Given the description of an element on the screen output the (x, y) to click on. 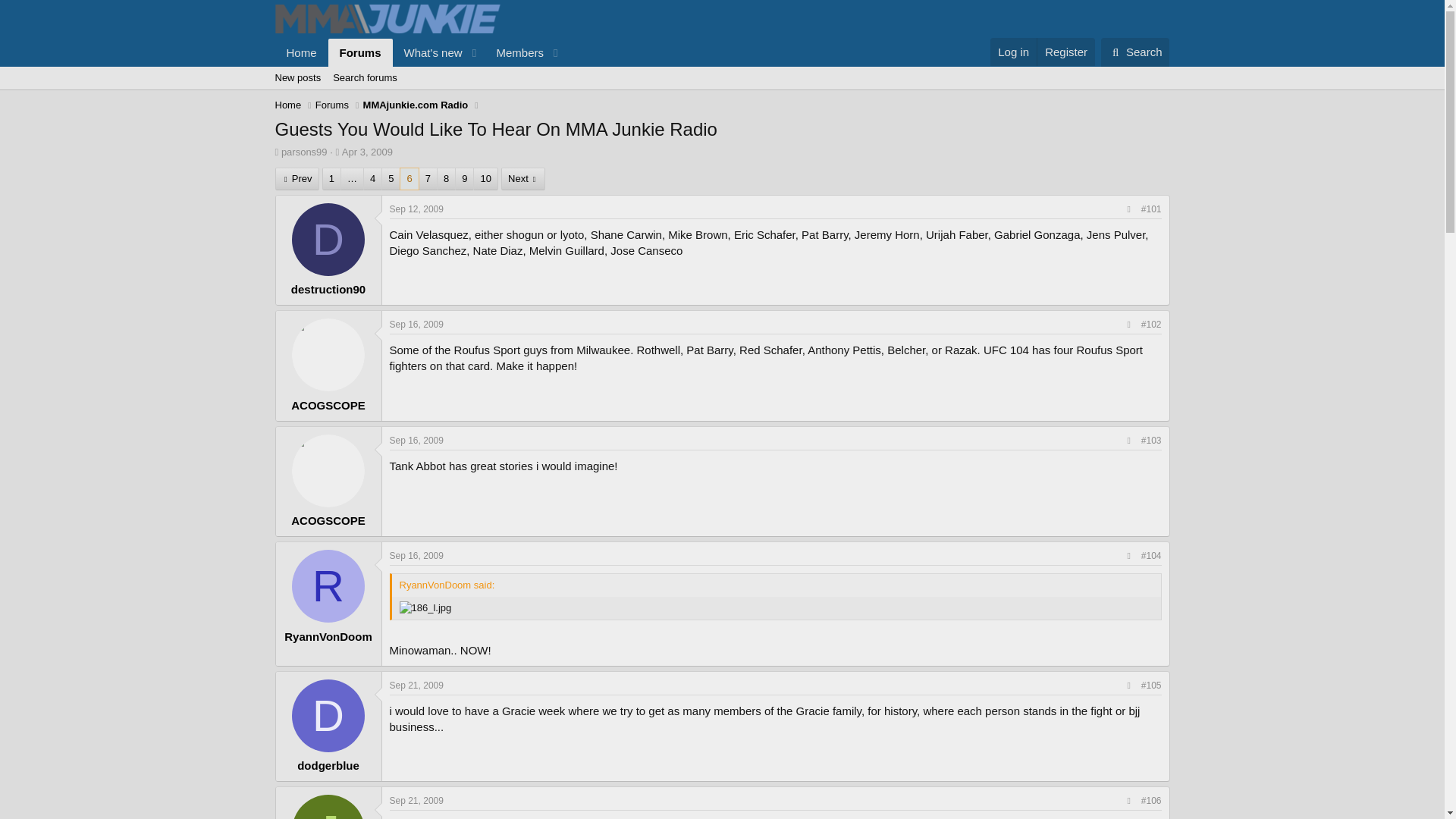
Members (514, 52)
Search (1135, 51)
Home (301, 52)
Apr 3, 2009 at 7:27 PM (367, 152)
Sep 21, 2009 at 1:45 AM (417, 800)
Forums (332, 105)
Search (1135, 51)
Sep 16, 2009 at 9:53 AM (417, 439)
Register (1065, 51)
What's new (428, 52)
Search forums (364, 77)
Sep 16, 2009 at 9:47 AM (417, 324)
Sep 21, 2009 at 1:11 AM (417, 685)
Forums (361, 52)
